Given the description of an element on the screen output the (x, y) to click on. 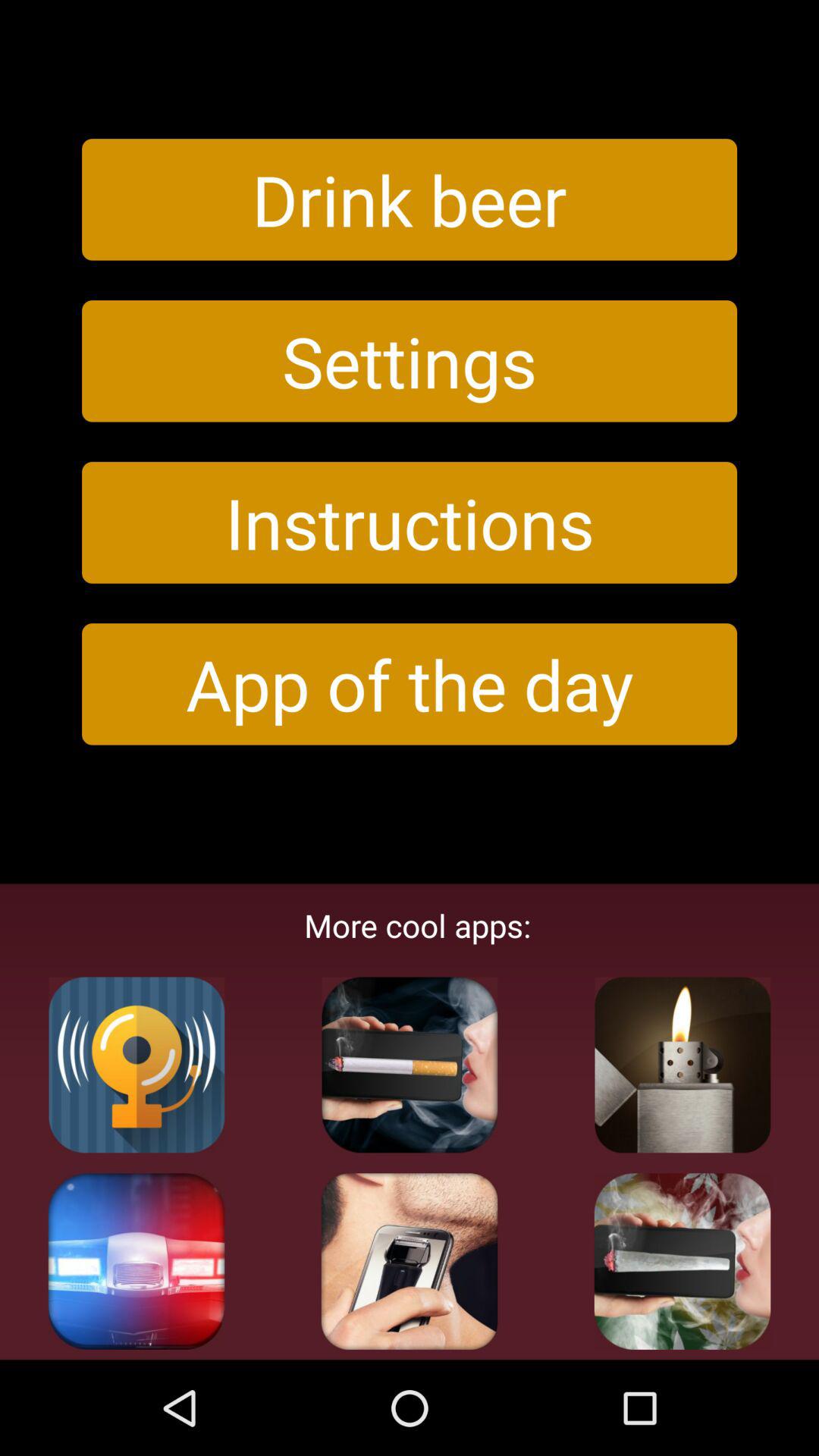
open icon above more cool apps: (409, 684)
